Given the description of an element on the screen output the (x, y) to click on. 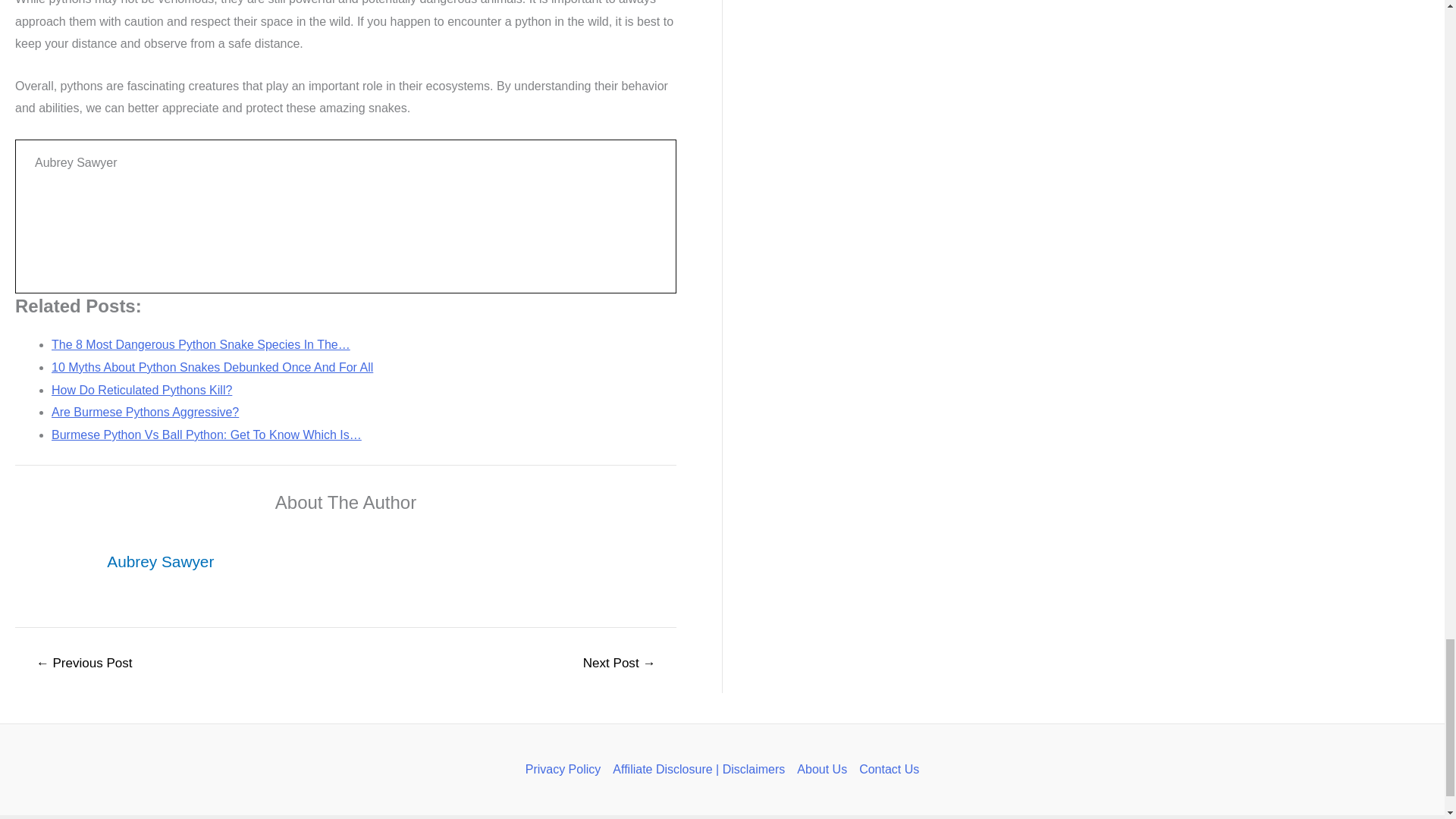
Are Burmese Pythons Aggressive? (144, 411)
10 Myths About Python Snakes Debunked Once And For All (211, 367)
How Do Reticulated Pythons Kill? (140, 390)
About Us (821, 769)
Aubrey Sawyer (160, 561)
Contact Us (885, 769)
Privacy Policy (566, 769)
